Given the description of an element on the screen output the (x, y) to click on. 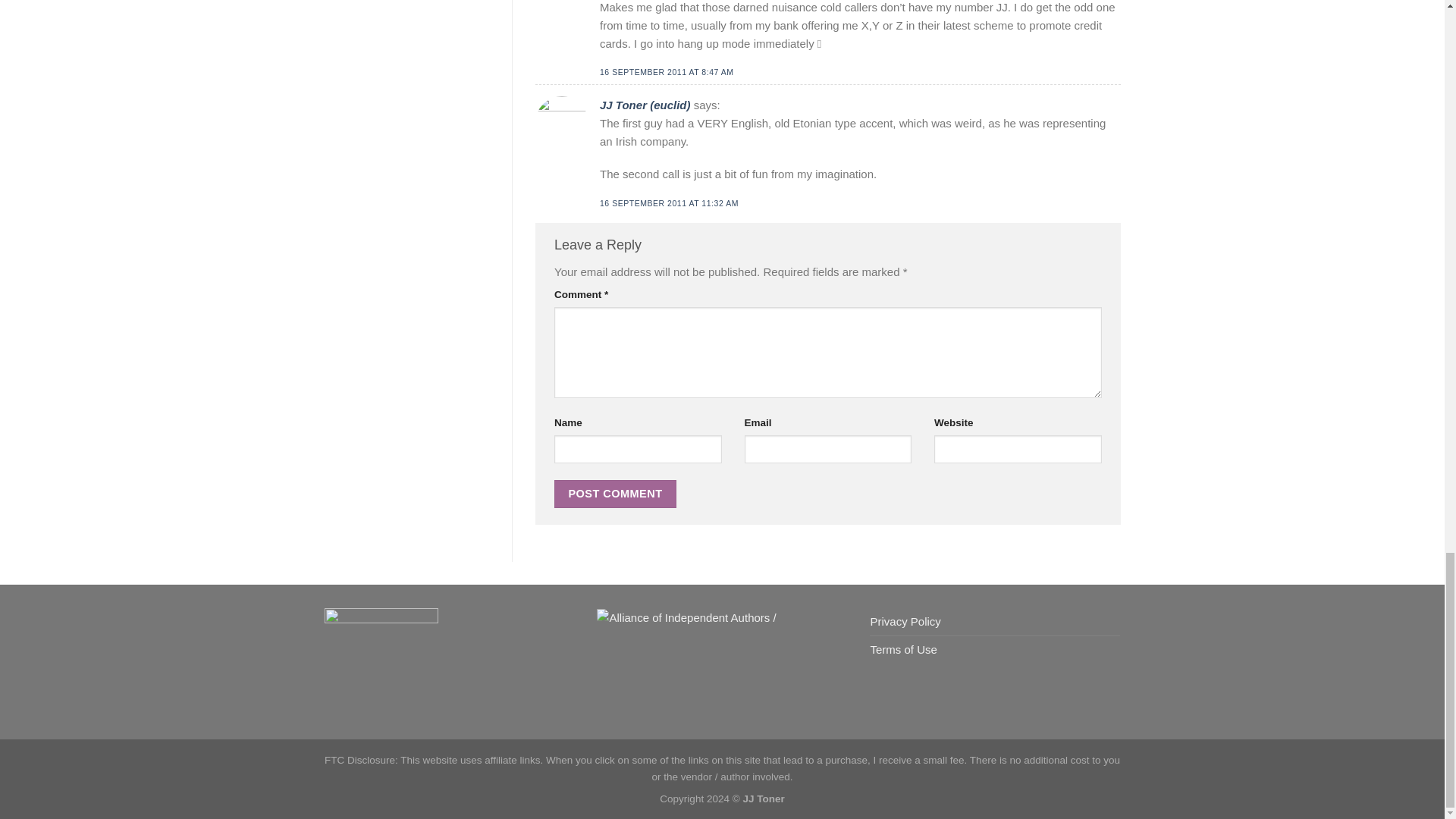
Post Comment (615, 493)
